Given the description of an element on the screen output the (x, y) to click on. 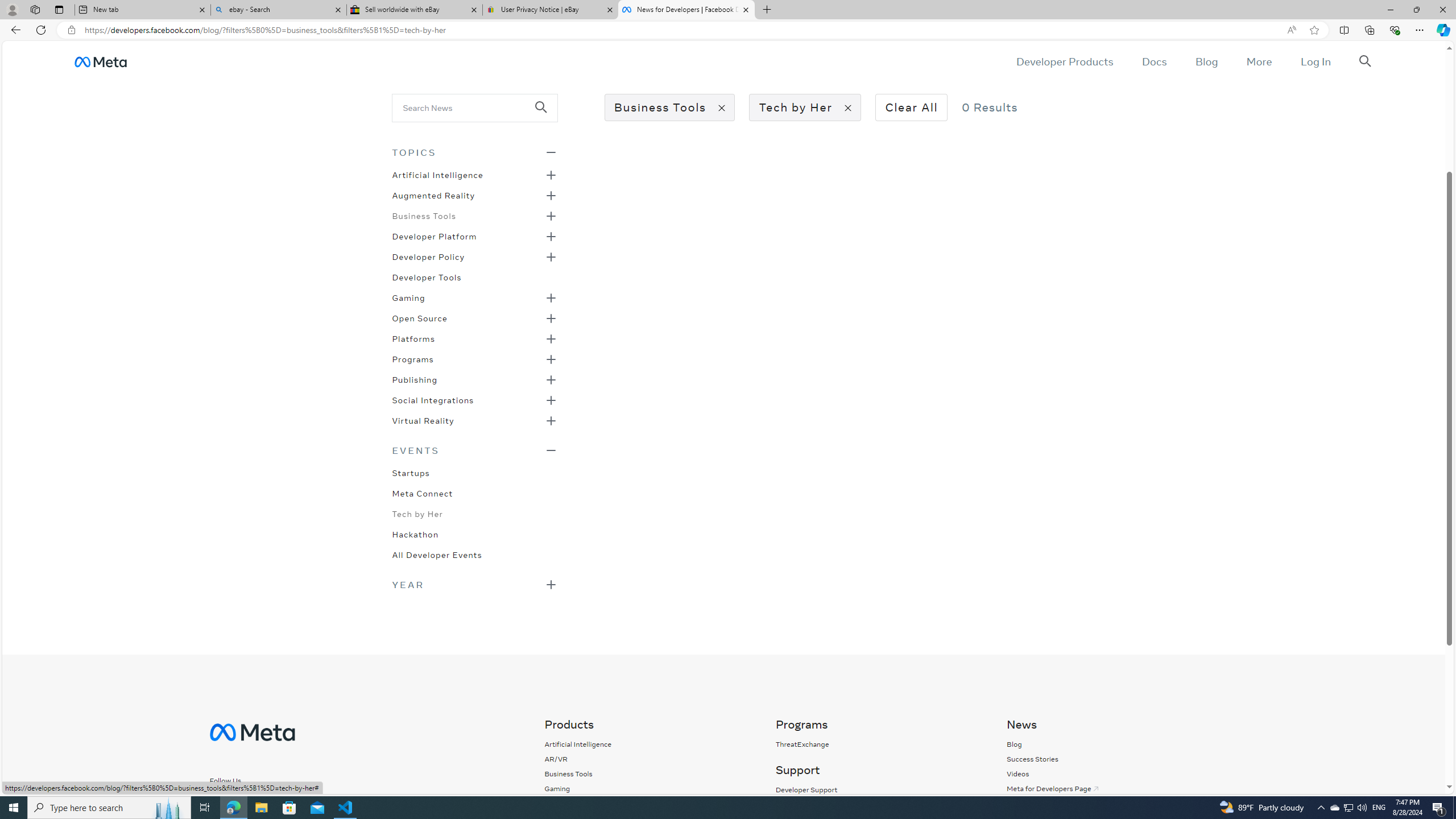
Follow us on LinkedIn (295, 801)
Developer Support (878, 789)
AR/VR (577, 758)
Meta for Developers Page (1053, 788)
News for Developers | Facebook Developers (685, 9)
Startups (410, 472)
Success Stories (1032, 758)
Gaming (408, 296)
Follow us on Twitter (266, 800)
Social Integrations (432, 399)
Developer Products (1064, 61)
Log In (1315, 61)
